Given the description of an element on the screen output the (x, y) to click on. 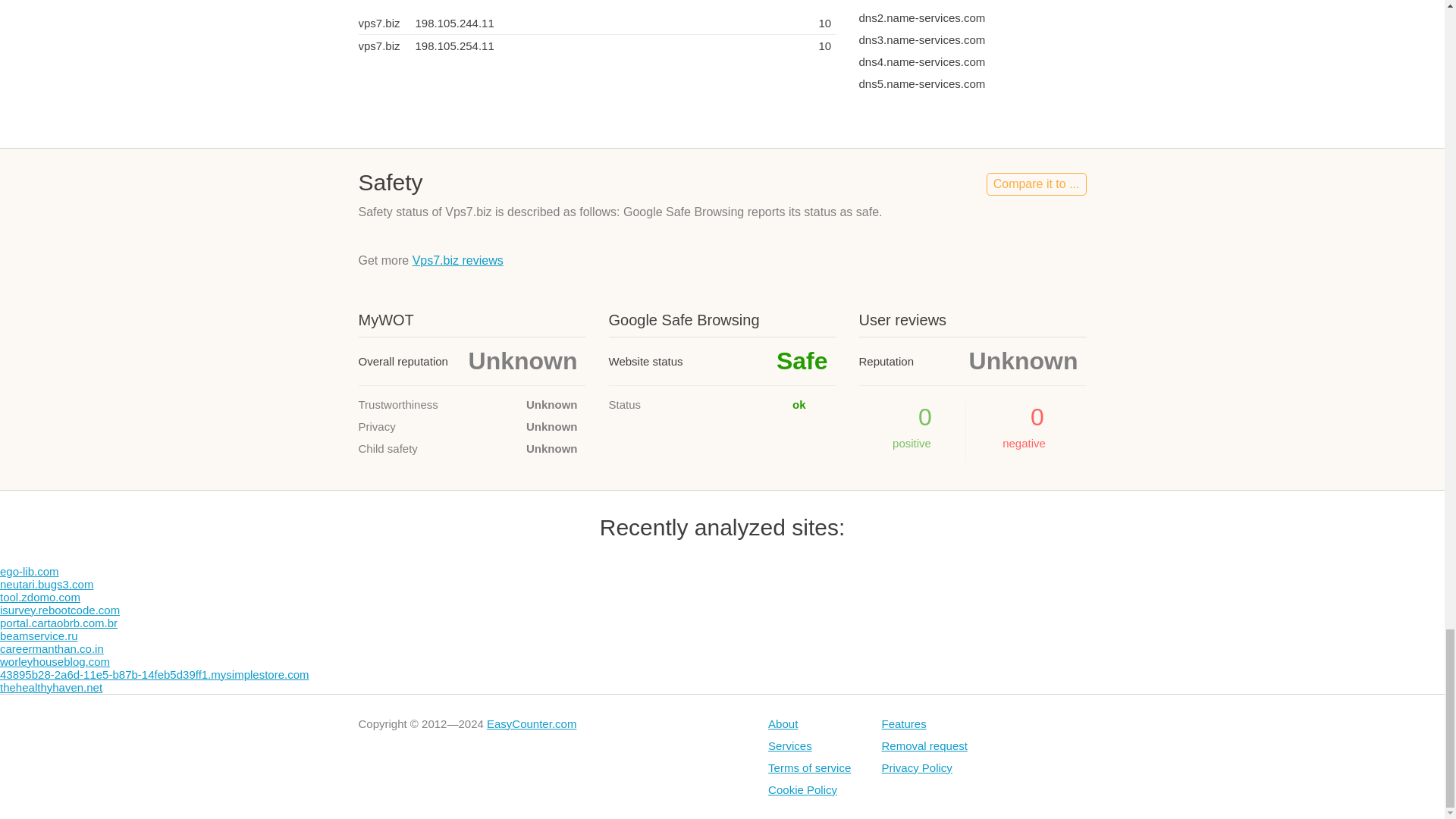
Compare it to ... (1036, 183)
